Given the description of an element on the screen output the (x, y) to click on. 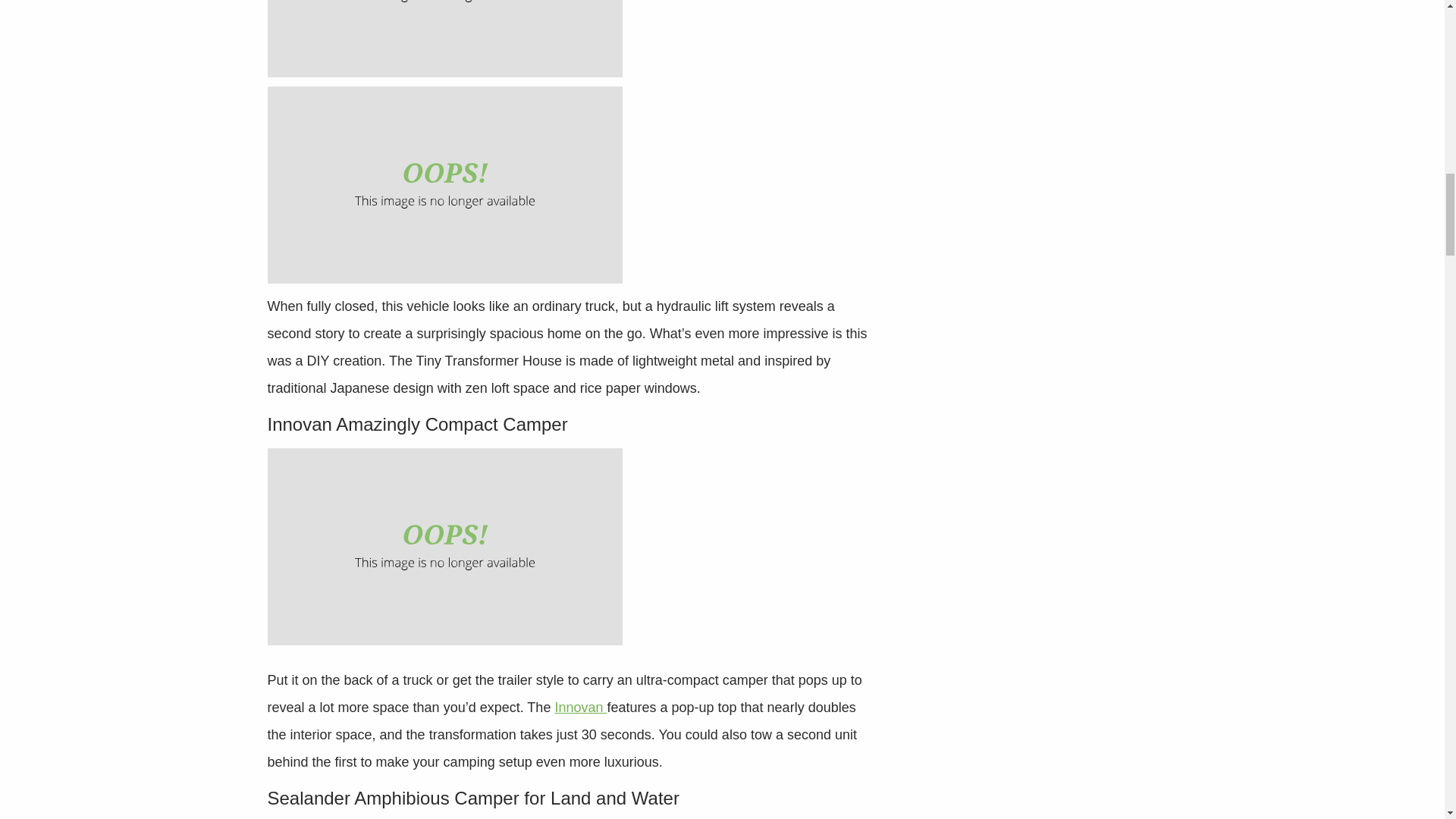
Crazy Campers Transforming DIY (443, 38)
Crazy Campers Innovan (443, 546)
Innovan (580, 707)
Crazy Campers Transforming DIY 2 (443, 184)
